Given the description of an element on the screen output the (x, y) to click on. 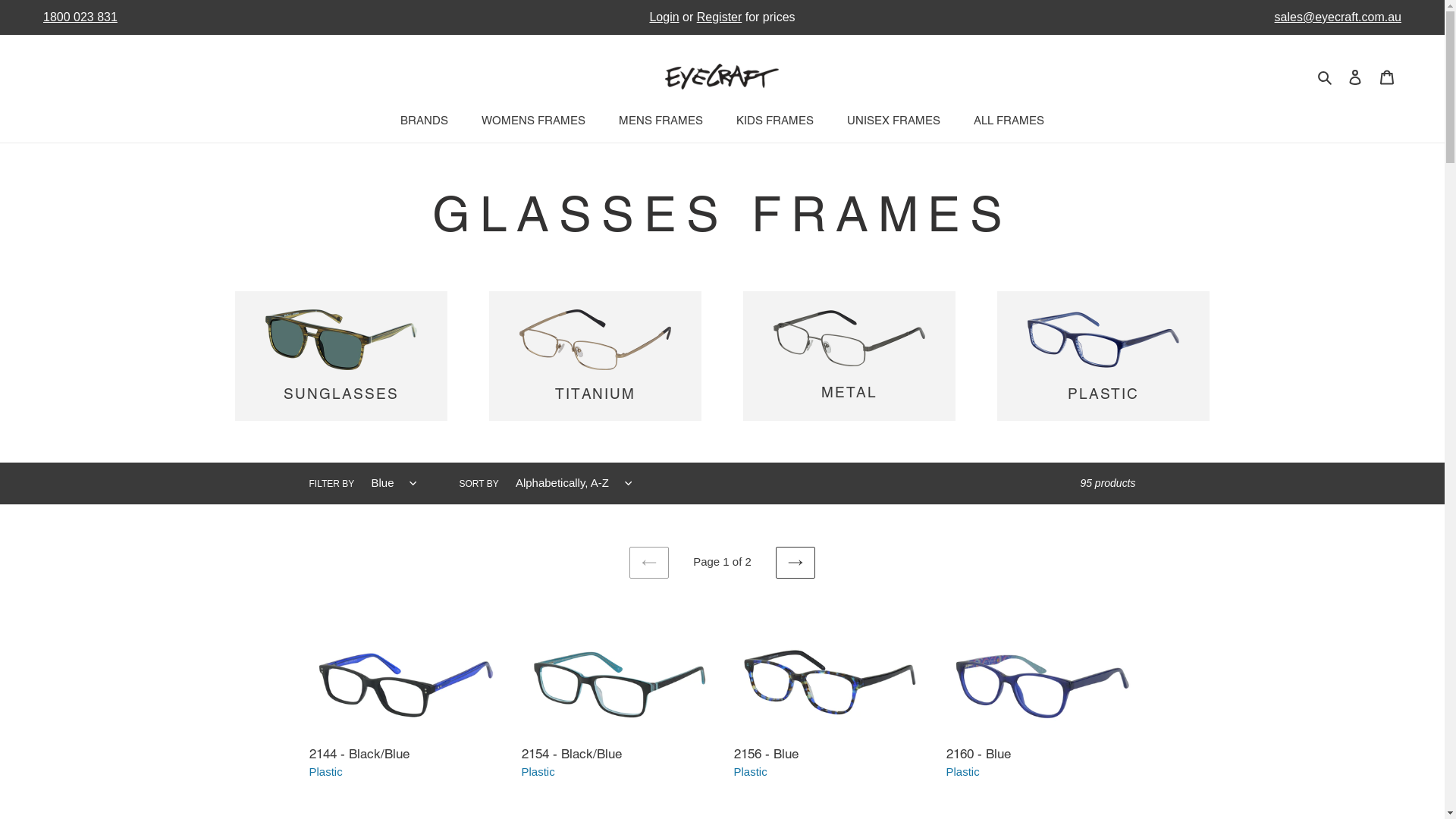
NEXT PAGE Element type: text (795, 562)
PREVIOUS PAGE Element type: text (648, 562)
KIDS FRAMES Element type: text (774, 121)
Cart Element type: text (1386, 76)
2154 - Black/Blue Element type: text (616, 691)
2144 - Black/Blue Element type: text (403, 691)
2160 - Blue Element type: text (1040, 691)
Plastic Element type: text (538, 771)
ALL FRAMES Element type: text (1008, 121)
Register Element type: text (719, 16)
Log in Element type: text (1355, 76)
UNISEX FRAMES Element type: text (893, 121)
Plastic Element type: text (325, 771)
PLASTIC Element type: text (1103, 355)
MENS FRAMES Element type: text (660, 121)
1800 023 831 Element type: text (269, 16)
sales@eyecraft.com.au Element type: text (1174, 16)
Plastic Element type: text (750, 771)
Plastic Element type: text (962, 771)
Login Element type: text (663, 16)
Search Element type: text (1325, 76)
METAL Element type: text (849, 355)
WOMENS FRAMES Element type: text (533, 121)
SUNGLASSES Element type: text (341, 355)
BRANDS Element type: text (424, 121)
2156 - Blue Element type: text (828, 691)
TITANIUM Element type: text (595, 355)
